Given the description of an element on the screen output the (x, y) to click on. 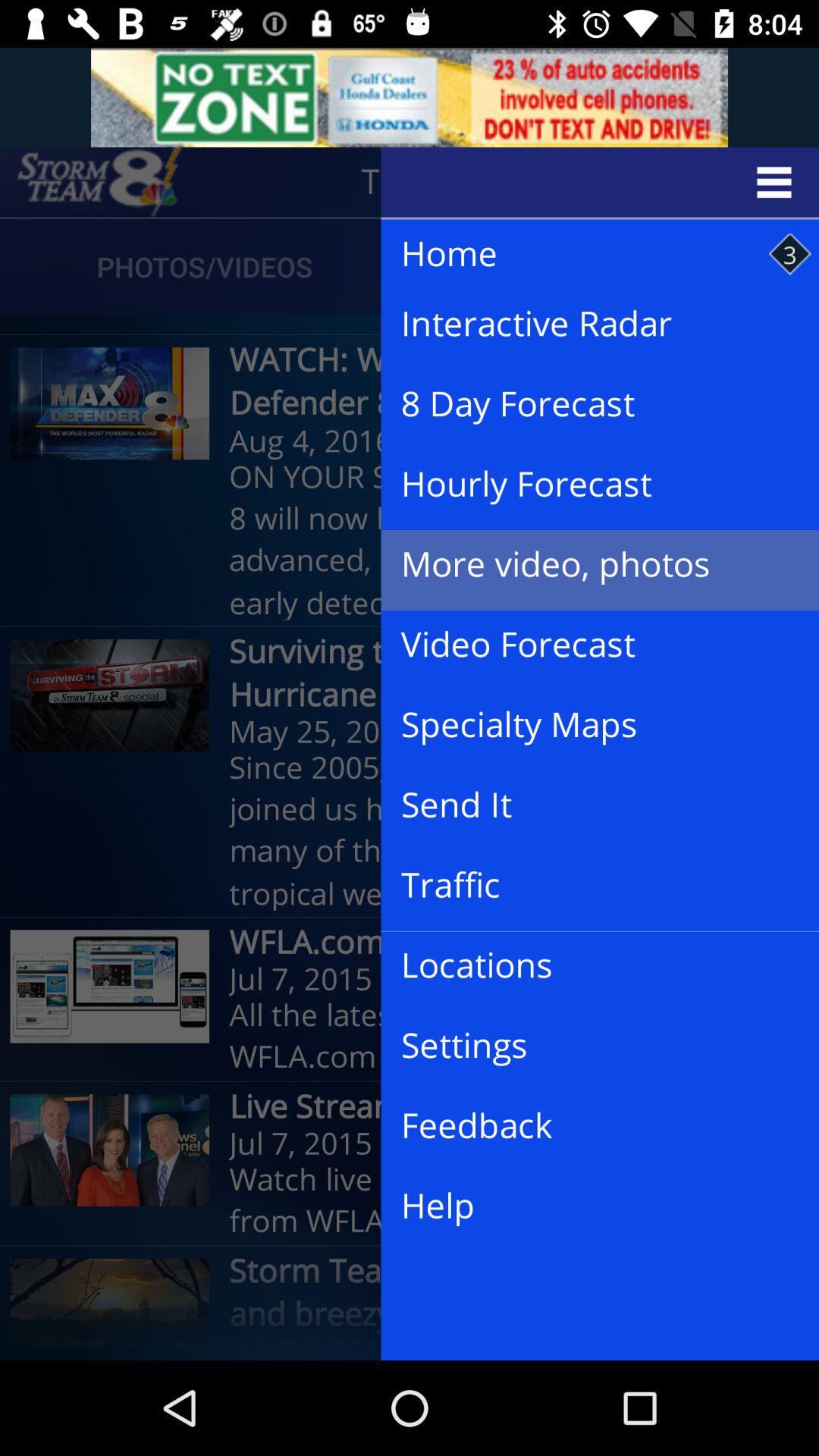
open the help item (587, 1206)
